Given the description of an element on the screen output the (x, y) to click on. 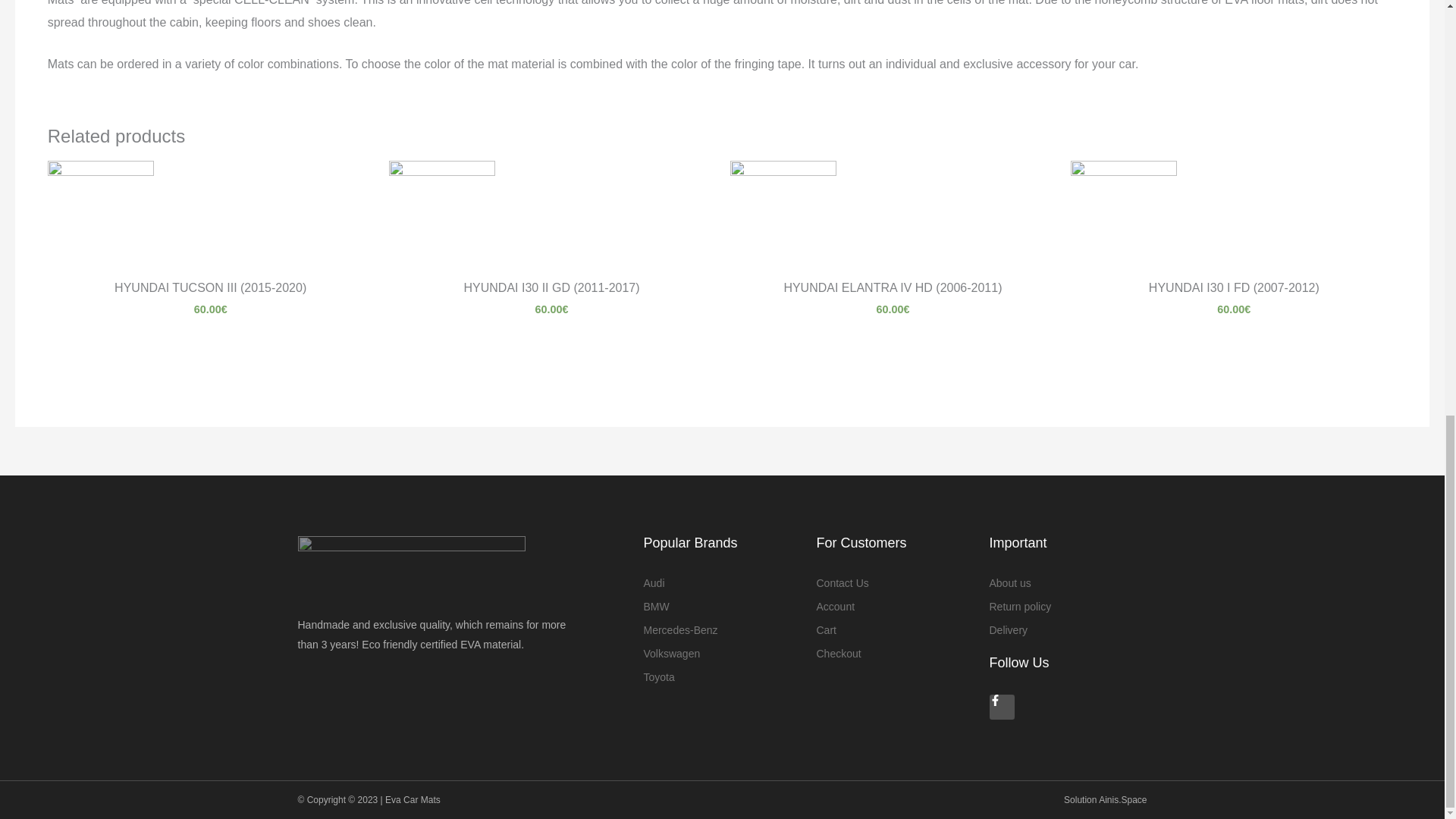
BMW (721, 607)
Audi (721, 583)
Mercedes-Benz (721, 630)
